Given the description of an element on the screen output the (x, y) to click on. 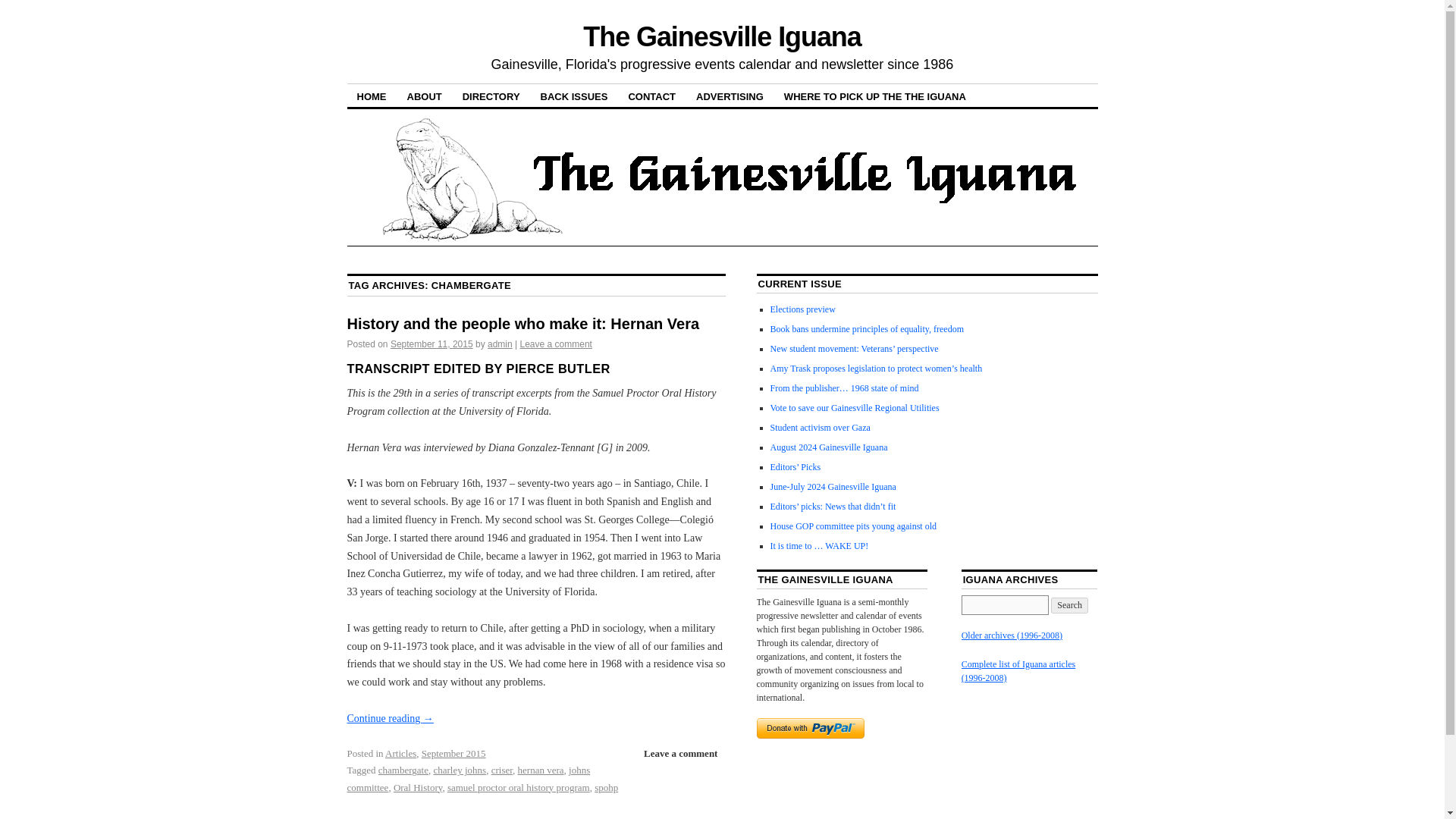
CONTACT (651, 96)
ADVERTISING (729, 96)
samuel proctor oral history program (517, 787)
BACK ISSUES (574, 96)
criser (502, 769)
Leave a comment (680, 753)
Articles (400, 753)
ABOUT (424, 96)
Vote to save our Gainesville Regional Utilities (854, 407)
Search (1069, 605)
WHERE TO PICK UP THE THE IGUANA (874, 96)
August 2024 Gainesville Iguana (829, 447)
charley johns (459, 769)
September 11, 2015 (431, 344)
admin (499, 344)
